Given the description of an element on the screen output the (x, y) to click on. 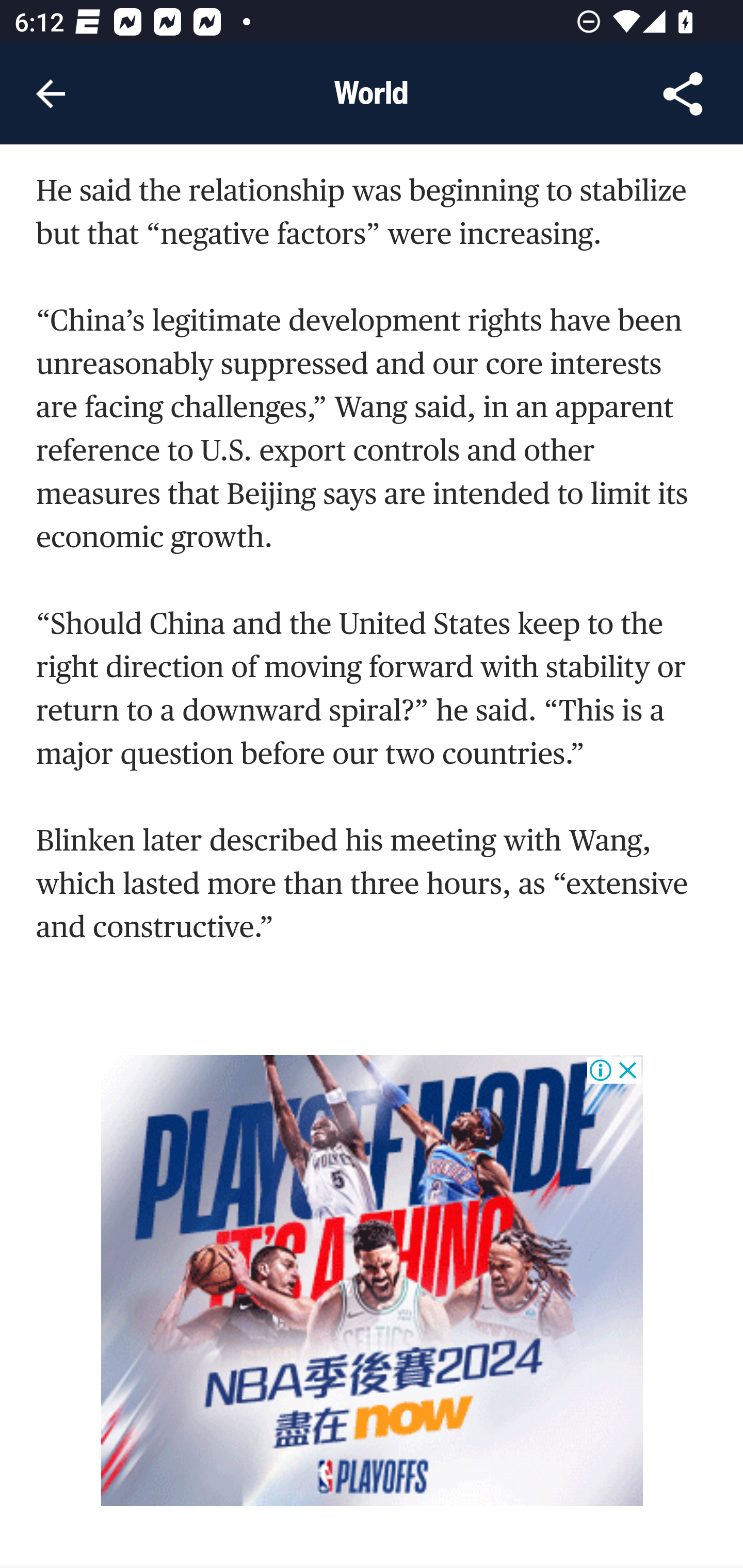
Navigate up (50, 93)
Share Article, button (683, 94)
